Given the description of an element on the screen output the (x, y) to click on. 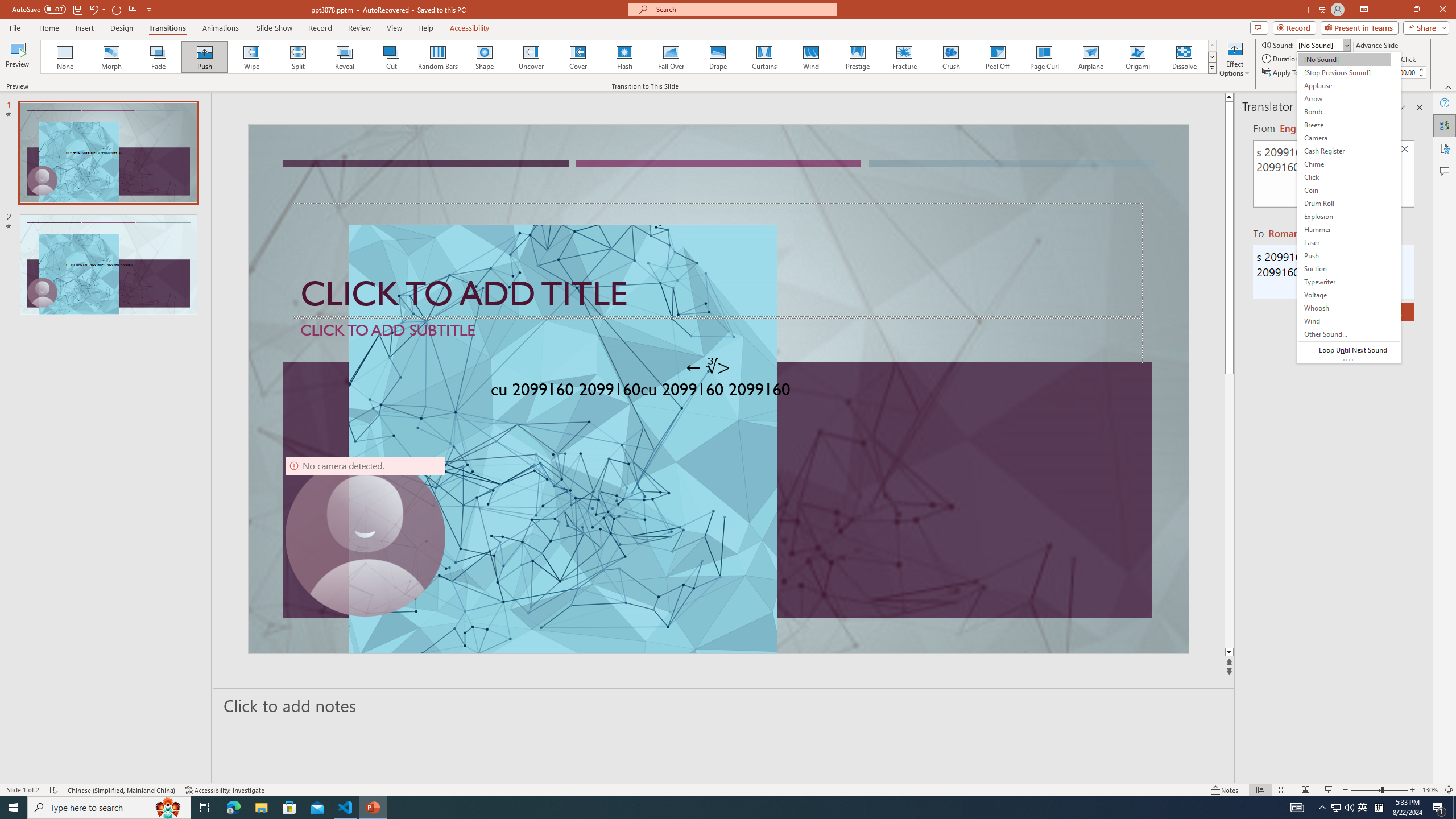
Random Bars (437, 56)
Morph (111, 56)
Dissolve (1183, 56)
Running applications (707, 807)
